Given the description of an element on the screen output the (x, y) to click on. 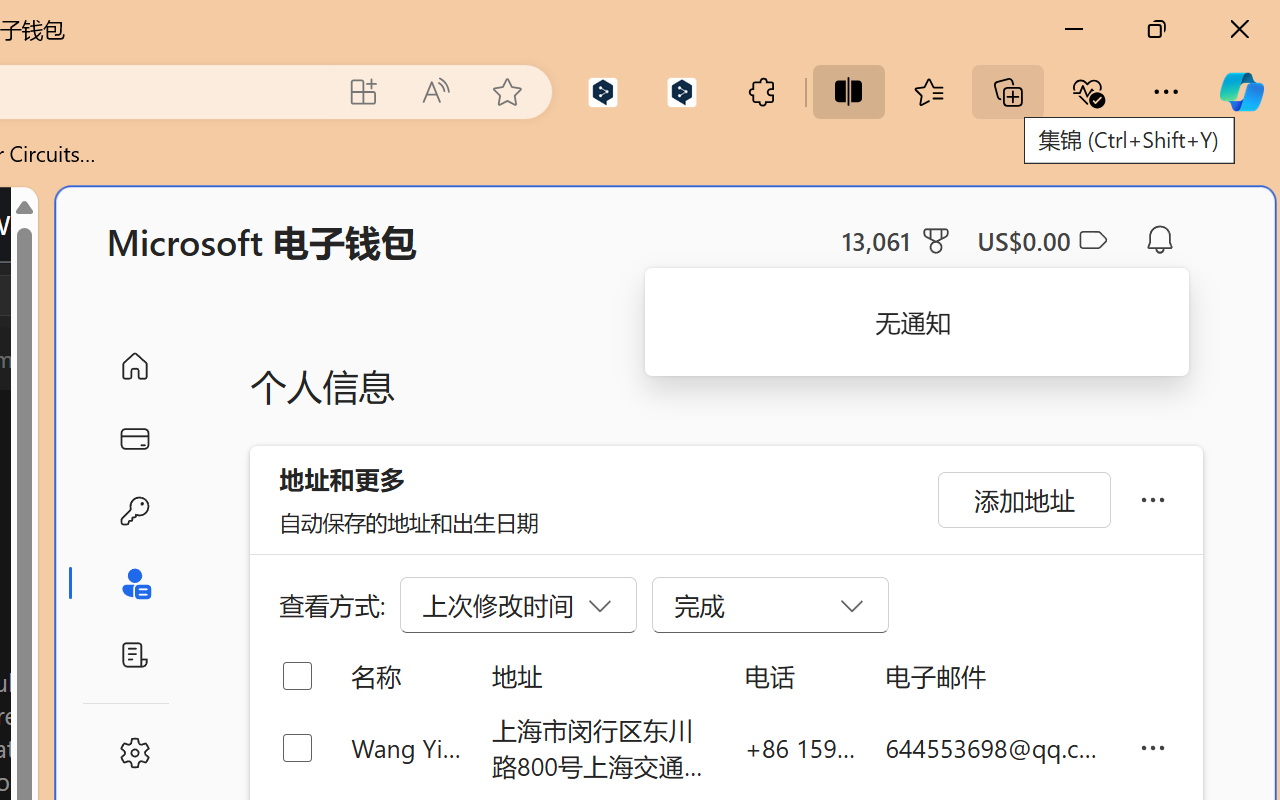
Wang Yian (406, 747)
Copilot (Ctrl+Shift+.) (1241, 91)
Microsoft Cashback - US$0.00 (1041, 240)
